Given the description of an element on the screen output the (x, y) to click on. 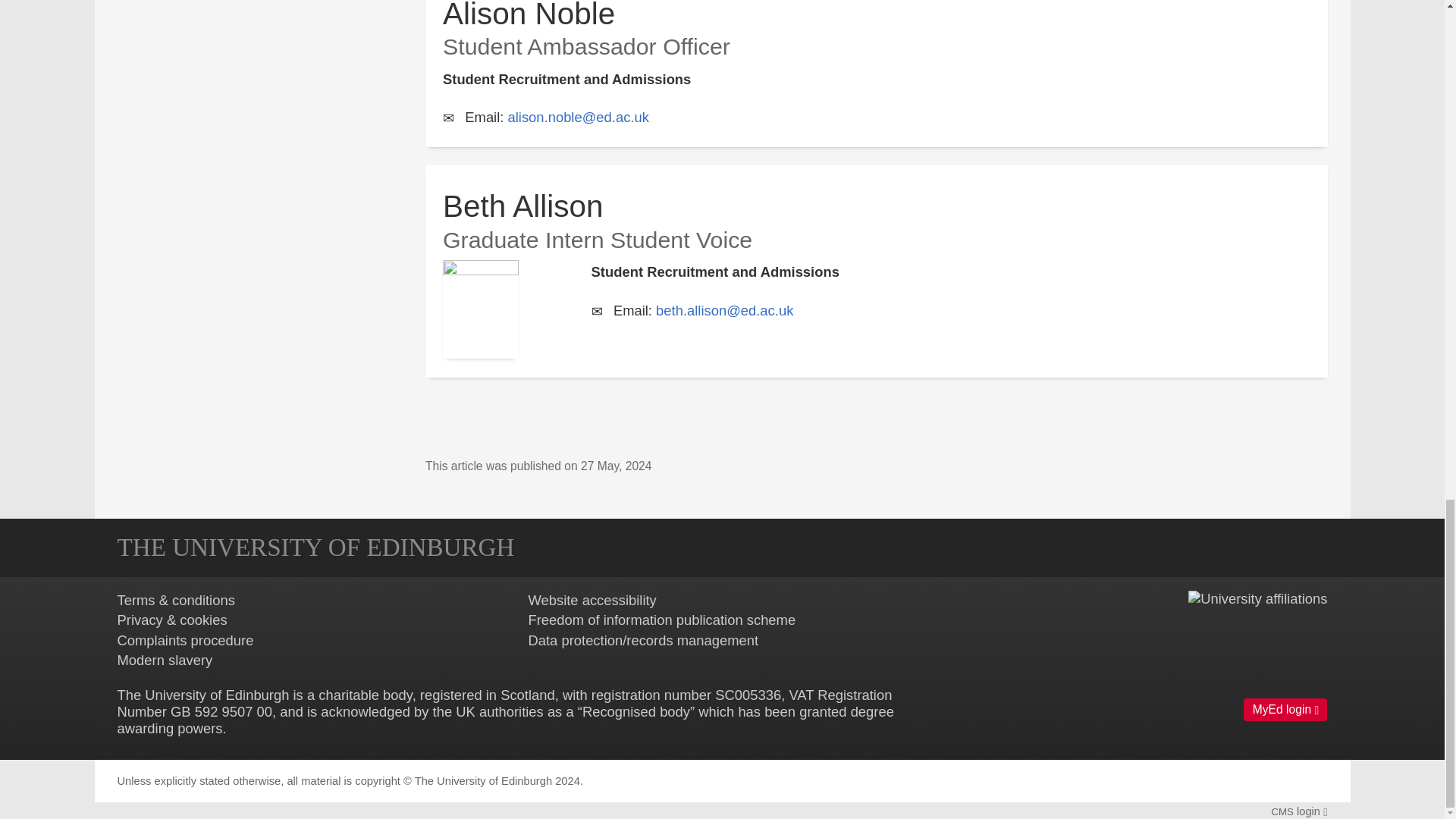
MyEd login (1284, 709)
Complaints procedure (184, 640)
Website accessibility (591, 600)
Modern slavery (164, 659)
Recognised body (636, 711)
Freedom of information publication scheme (660, 619)
CMS login (1298, 811)
